Given the description of an element on the screen output the (x, y) to click on. 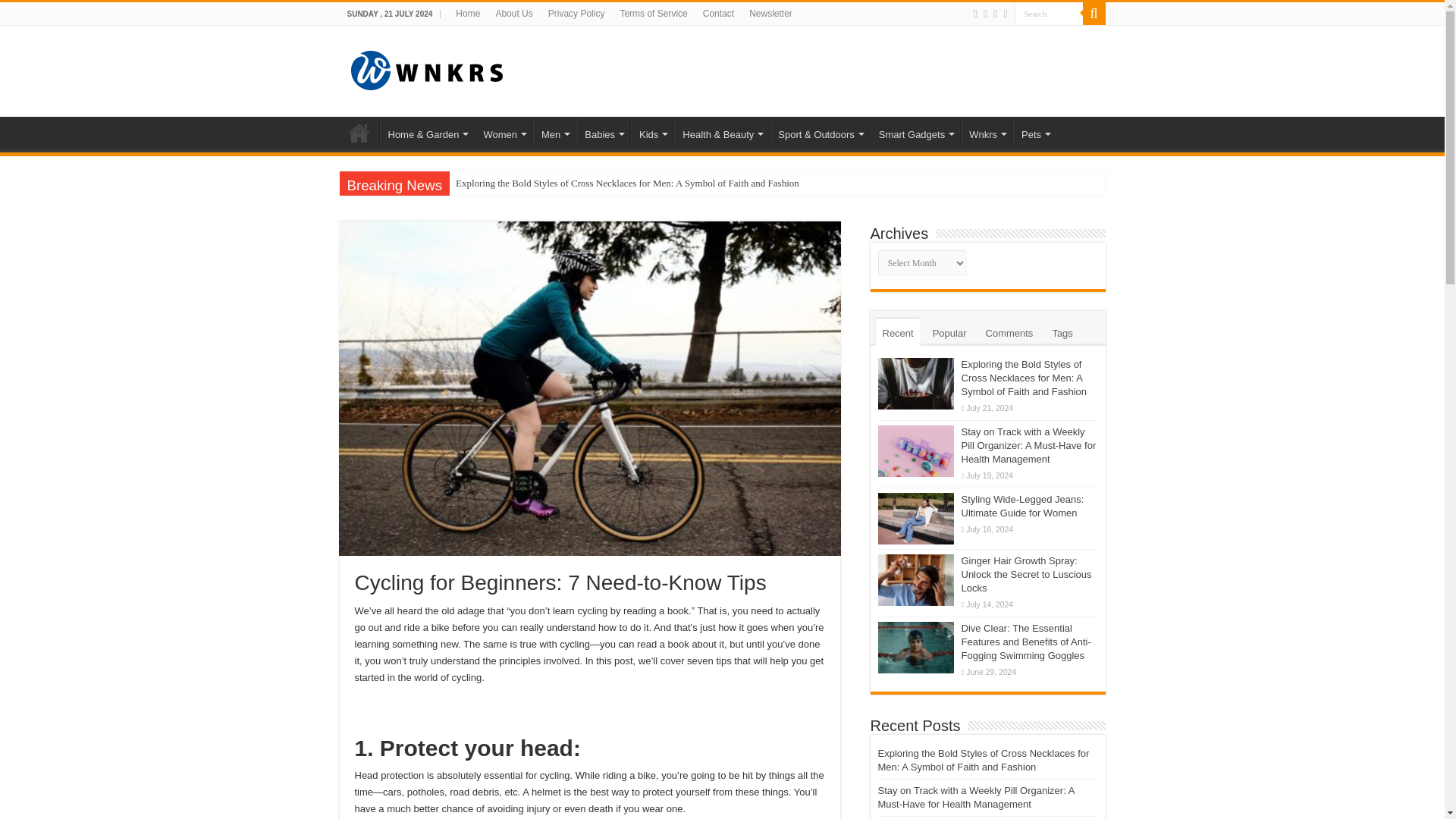
Wnkrs Blog (426, 67)
Search (1048, 13)
Search (1048, 13)
Search (1048, 13)
